Given the description of an element on the screen output the (x, y) to click on. 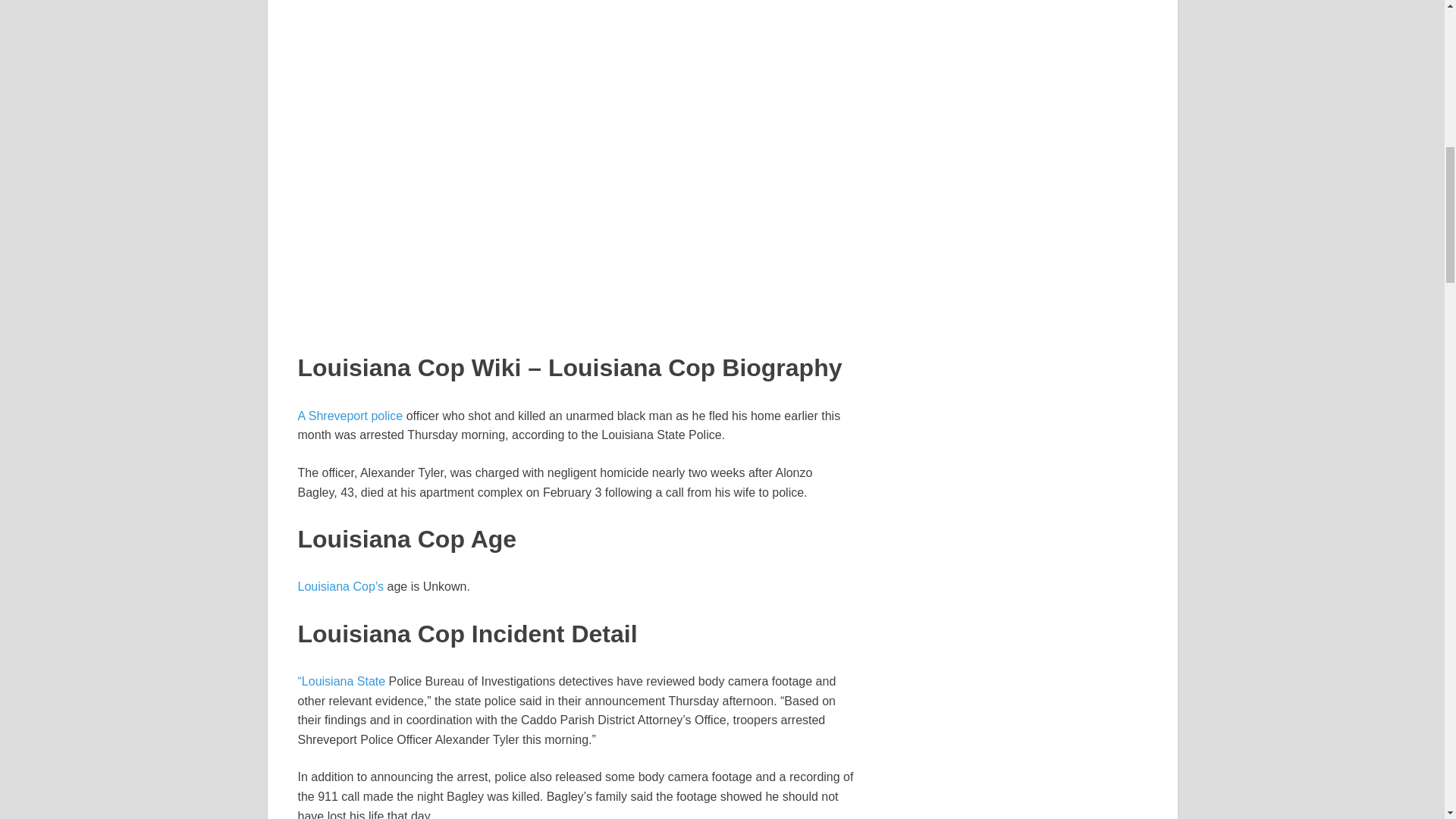
A Shreveport police (350, 415)
